Given the description of an element on the screen output the (x, y) to click on. 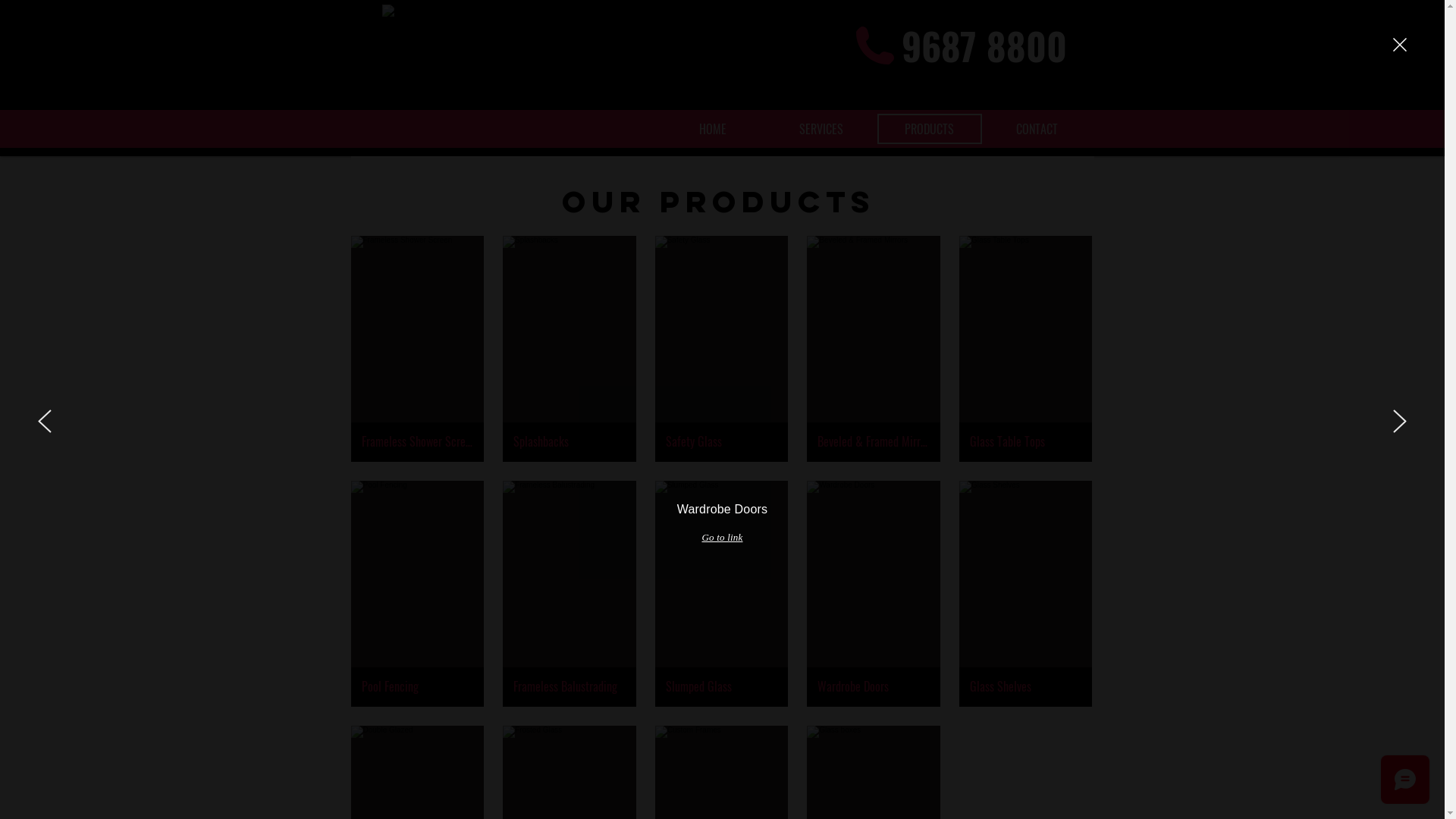
HOME Element type: text (712, 128)
CONTACT Element type: text (1036, 128)
Go to link Element type: text (721, 537)
PRODUCTS Element type: text (928, 128)
